Given the description of an element on the screen output the (x, y) to click on. 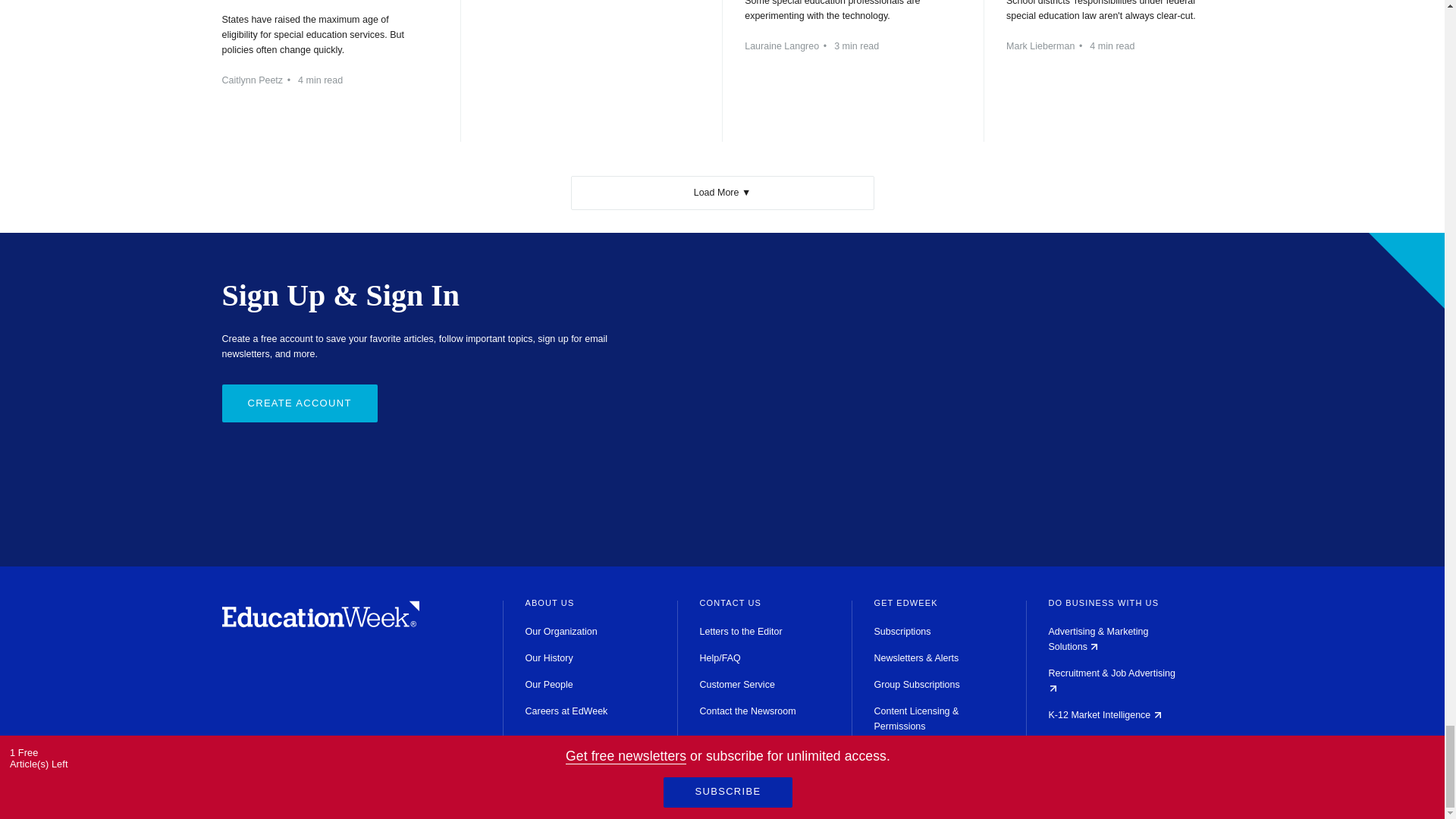
Homepage (320, 623)
